Given the description of an element on the screen output the (x, y) to click on. 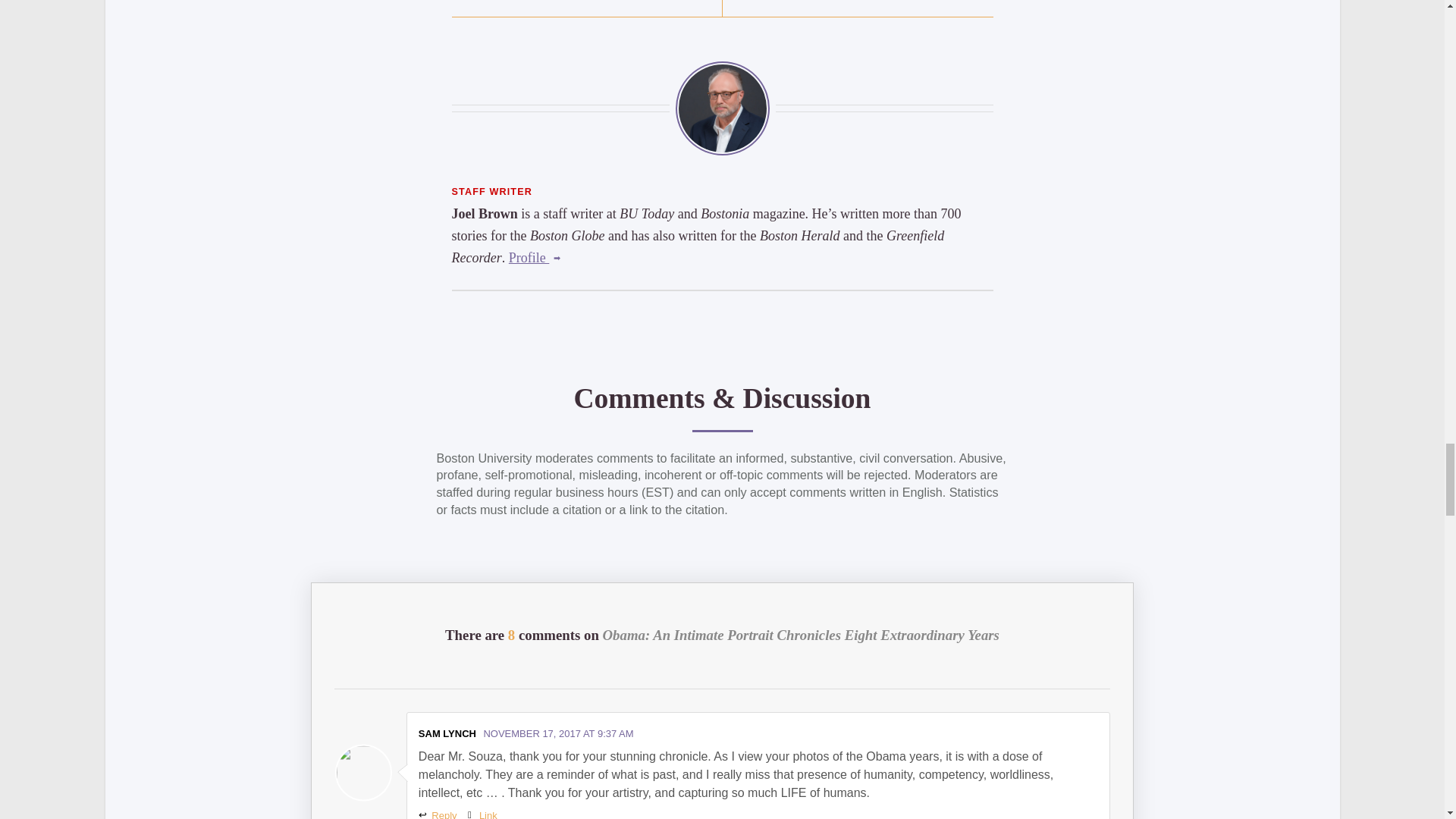
Profile (534, 257)
NOVEMBER 17, 2017 AT 9:37 AM (558, 733)
Link (482, 814)
Reply (438, 814)
